Given the description of an element on the screen output the (x, y) to click on. 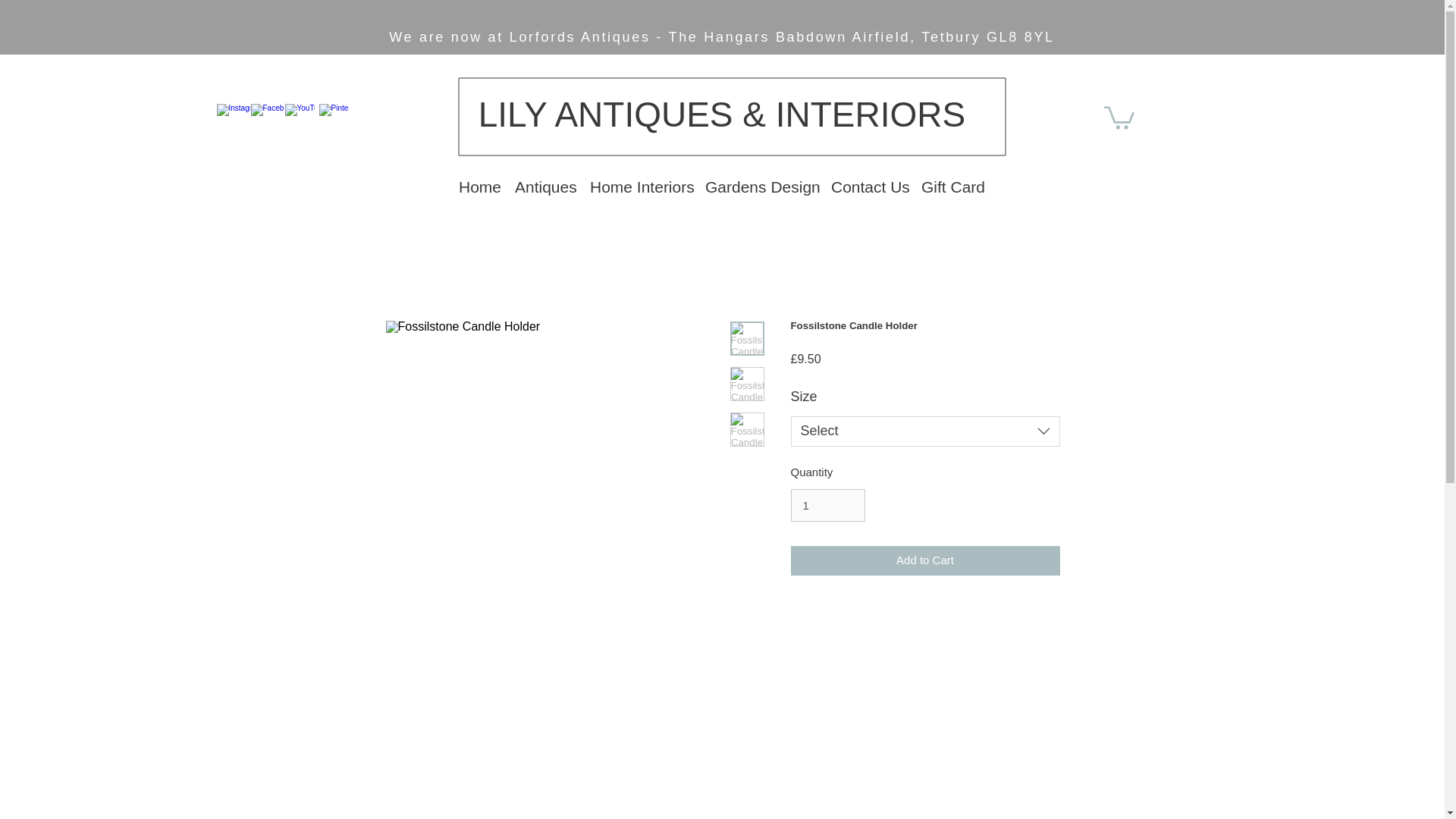
Add to Cart (924, 560)
Gardens Design (760, 183)
1 (827, 505)
Gift Card (952, 183)
Select (924, 430)
Antiques (544, 183)
Contact Us (868, 183)
Home (478, 183)
Home Interiors (639, 183)
